Given the description of an element on the screen output the (x, y) to click on. 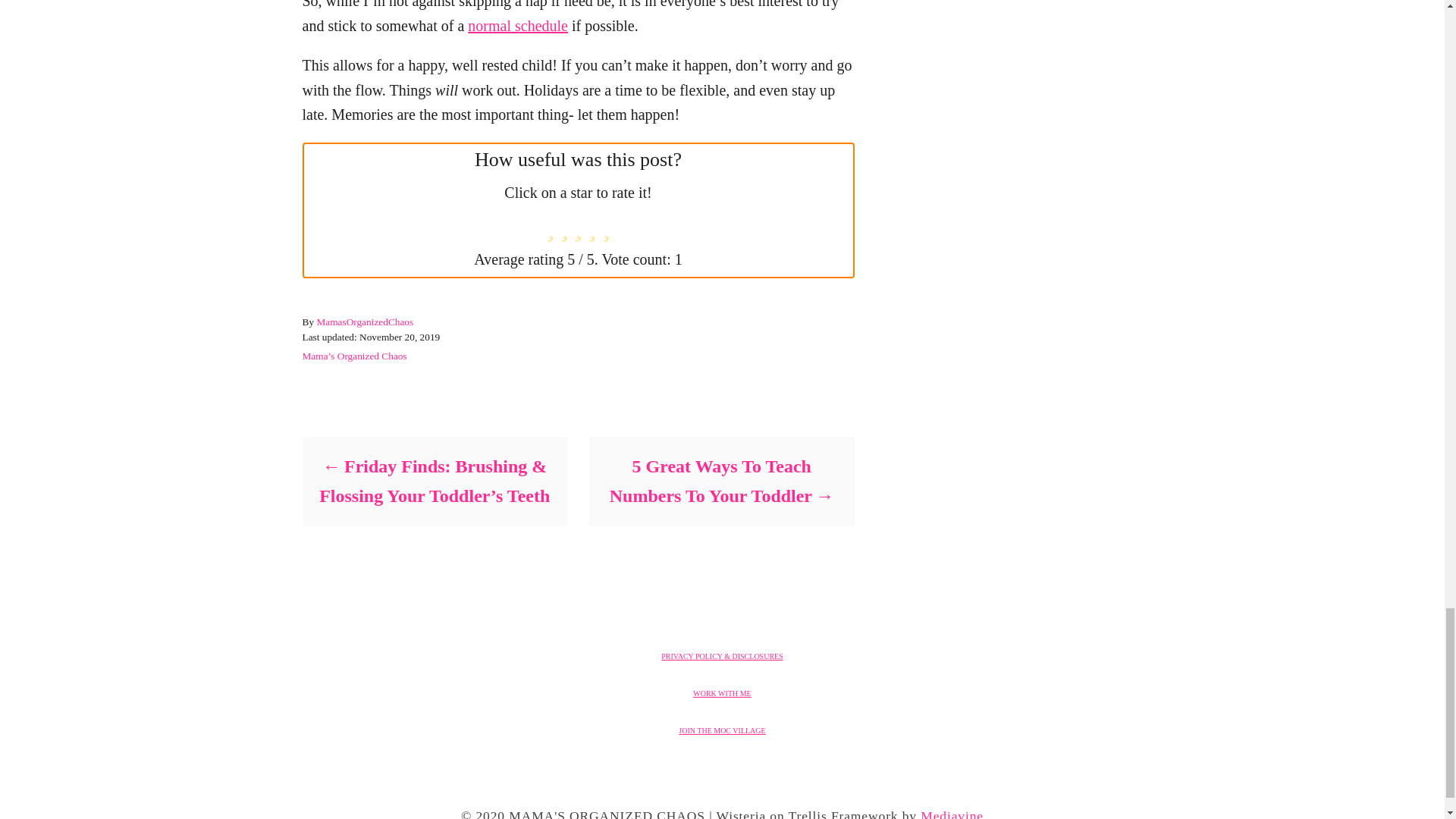
MamasOrganizedChaos (364, 321)
normal schedule (517, 25)
5 Great Ways To Teach Numbers To Your Toddler (721, 481)
